Given the description of an element on the screen output the (x, y) to click on. 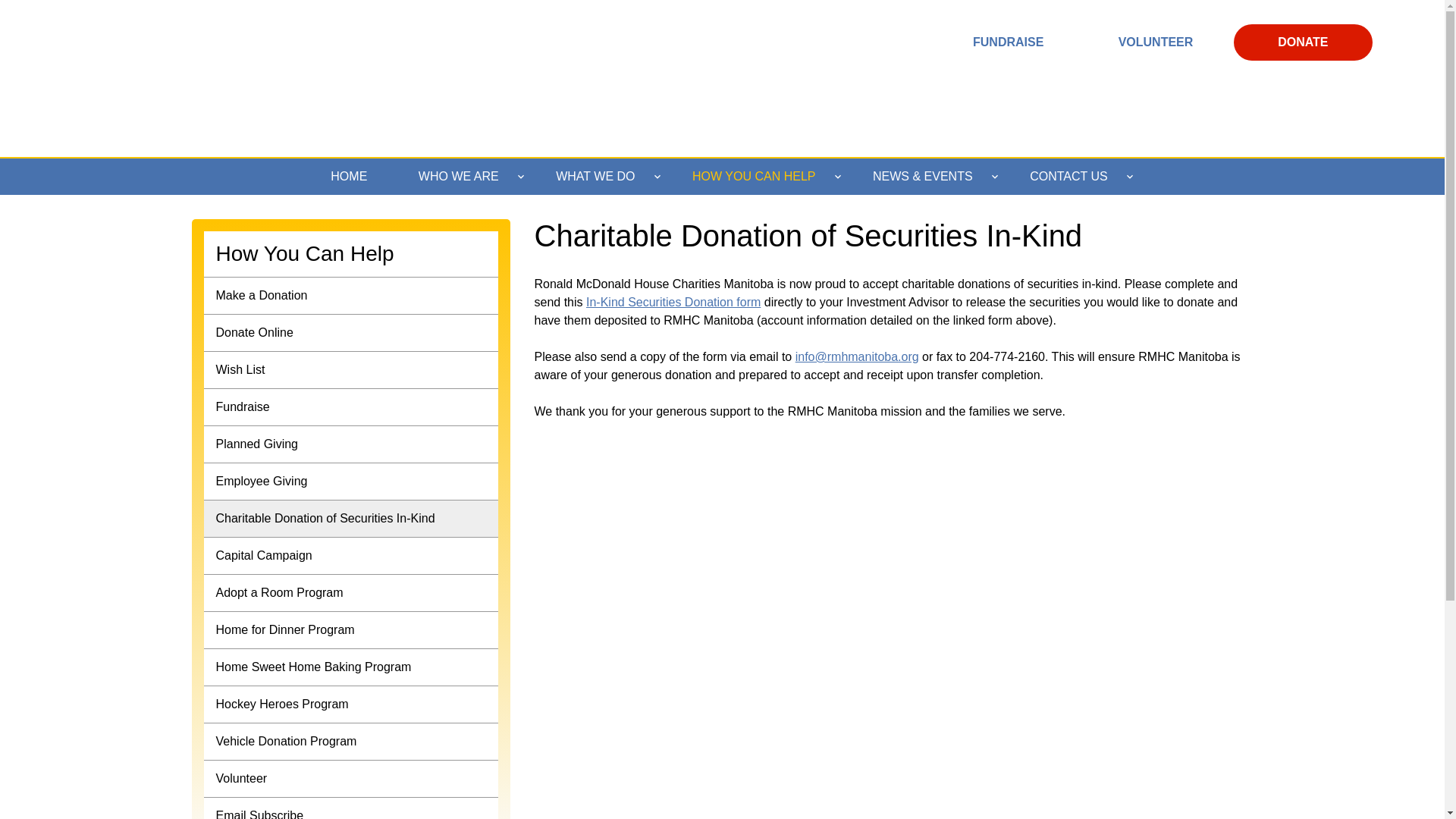
HOME (349, 176)
HOW YOU CAN HELP (756, 176)
VOLUNTEER (1155, 42)
DONATE (1303, 42)
FUNDRAISE (1008, 42)
WHAT WE DO (597, 176)
Ronald McDonald House Charities - Manitoba (234, 75)
Ronald McDonald House Charities - Manitoba (234, 75)
RMHC Manitoba (724, 18)
WHO WE ARE (461, 176)
